Given the description of an element on the screen output the (x, y) to click on. 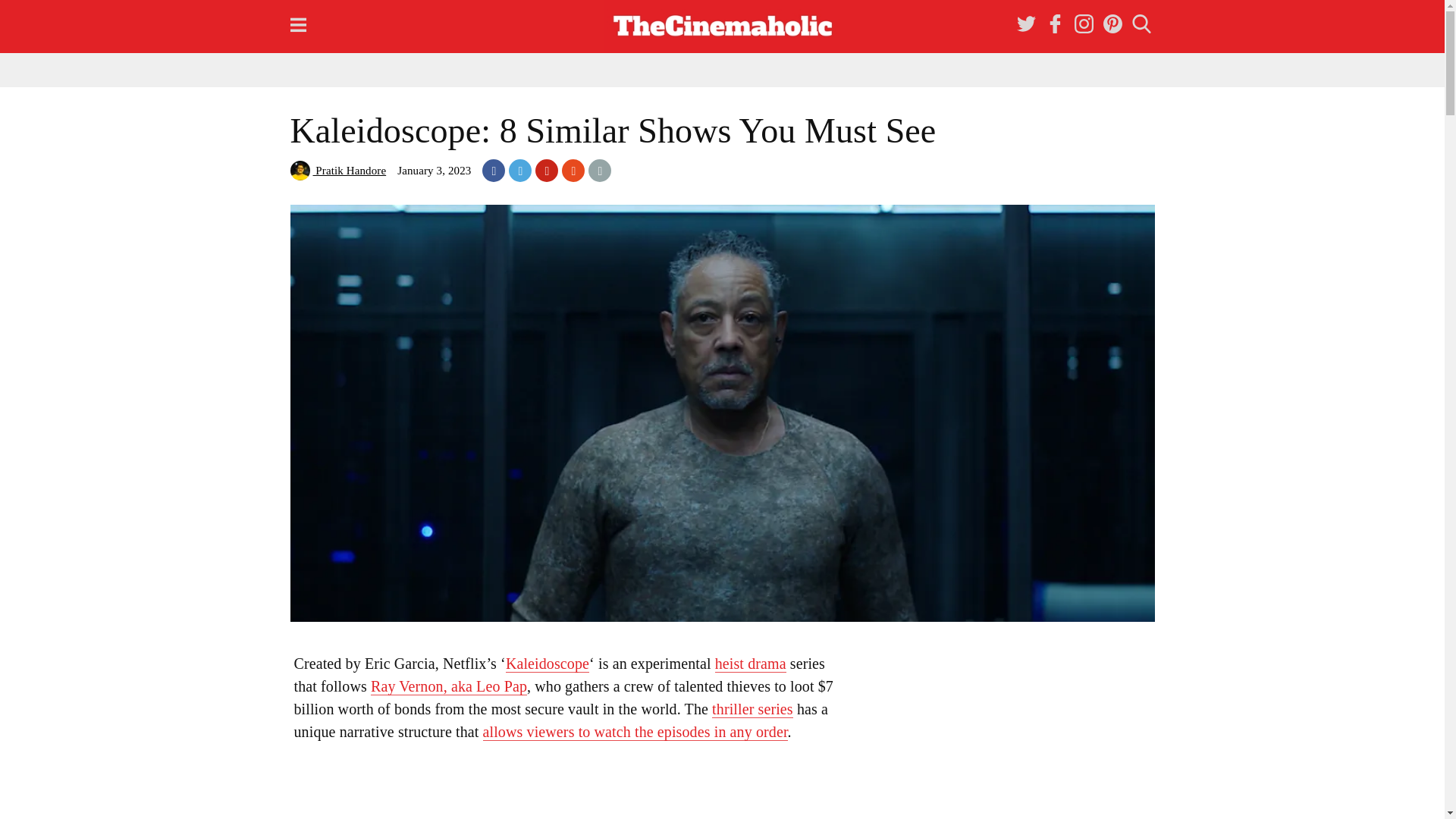
Pratik Handore (337, 170)
Kaleidoscope (547, 663)
heist drama (750, 663)
thriller series (752, 709)
Ray Vernon, aka Leo Pap (449, 686)
allows viewers to watch the episodes in any order (635, 732)
